Given the description of an element on the screen output the (x, y) to click on. 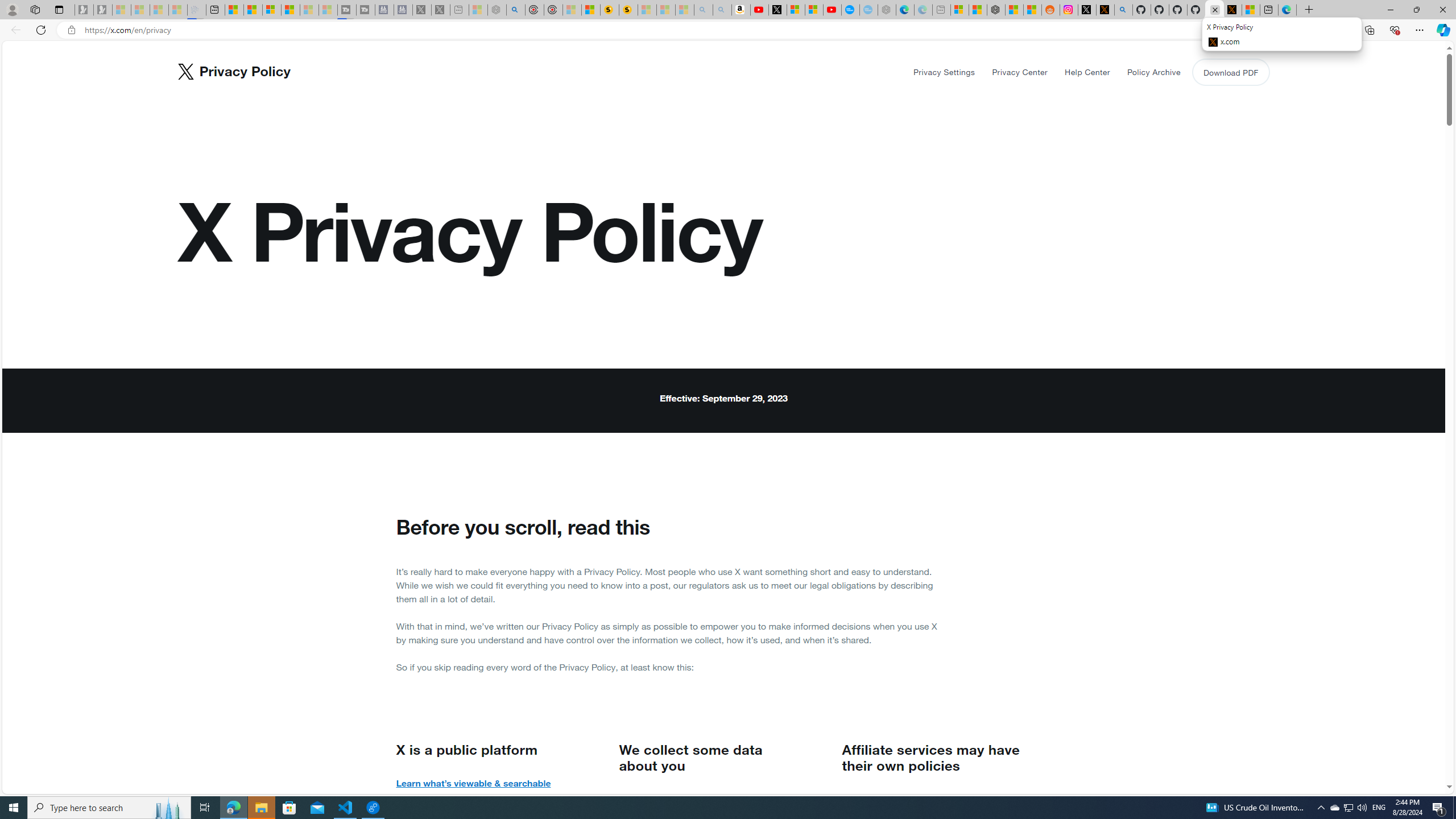
Day 1: Arriving in Yemen (surreal to be here) - YouTube (759, 9)
Privacy Center (1019, 71)
Newsletter Sign Up - Sleeping (102, 9)
help.x.com | 524: A timeout occurred (1105, 9)
Streaming Coverage | T3 - Sleeping (347, 9)
github - Search (1123, 9)
